Given the description of an element on the screen output the (x, y) to click on. 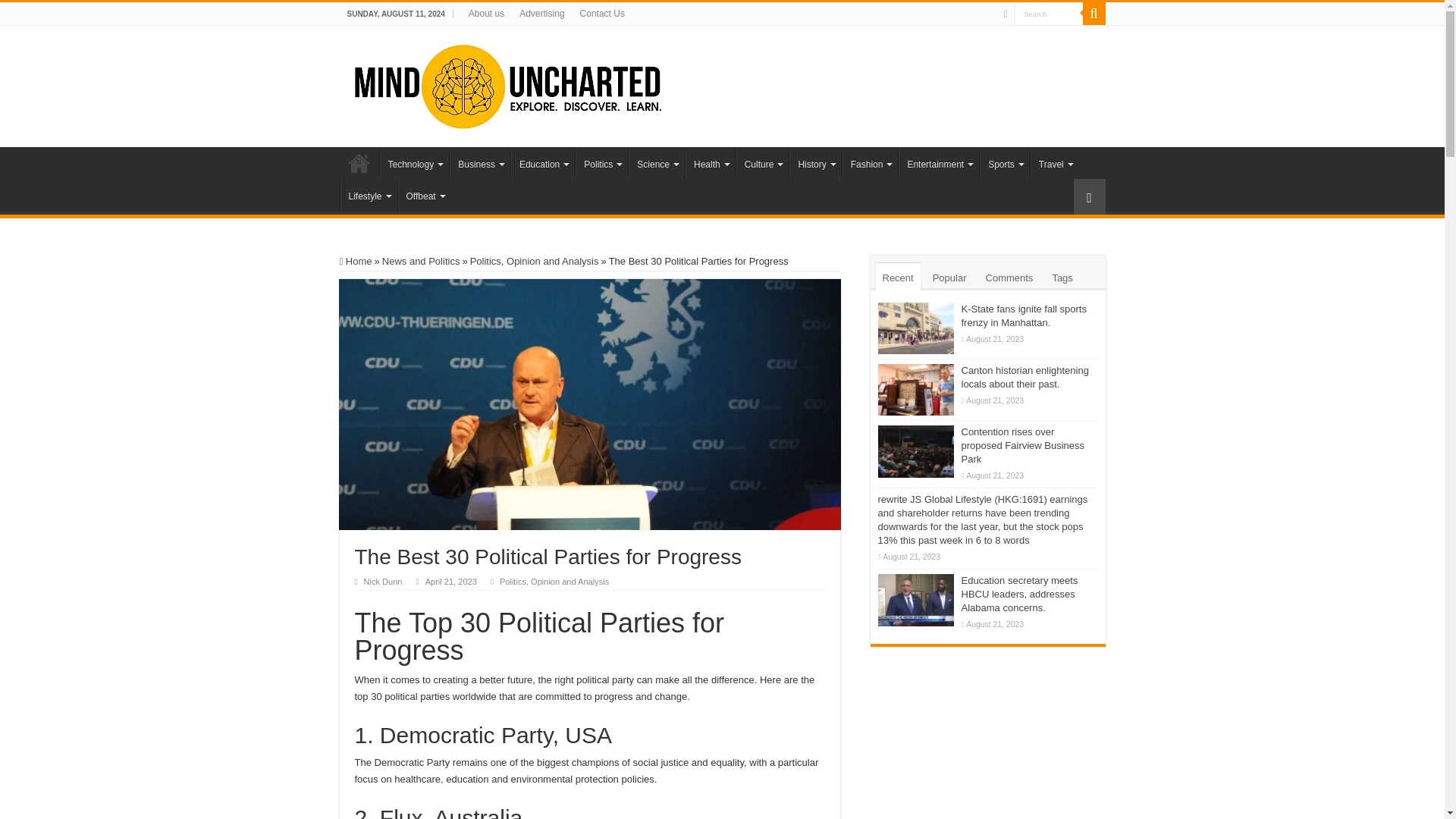
Search (1048, 13)
Search (1048, 13)
Mind Uncharted (506, 83)
Search (1048, 13)
